Given the description of an element on the screen output the (x, y) to click on. 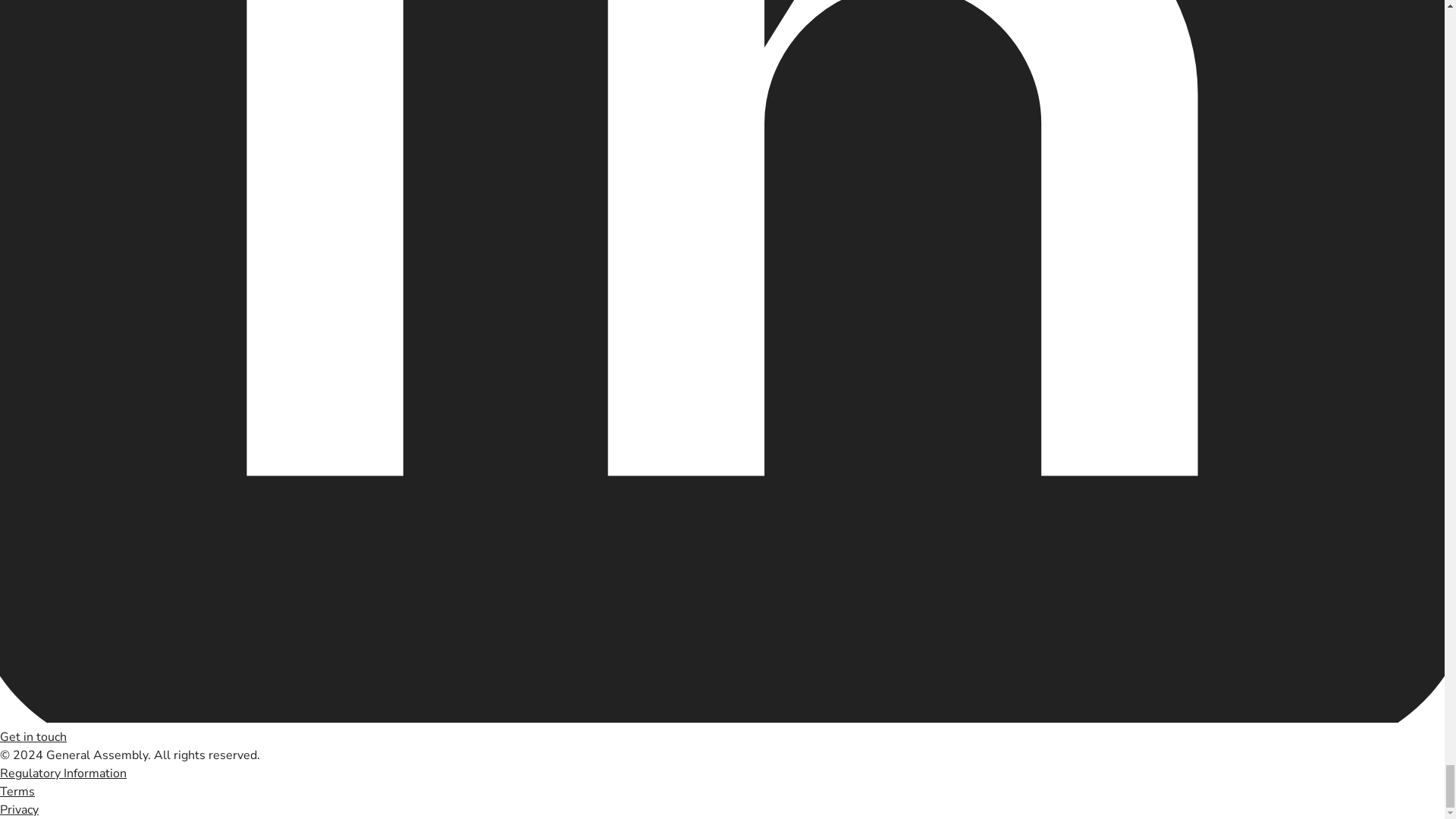
Regulatory Information (63, 773)
Get in touch (33, 736)
Terms (17, 791)
